Given the description of an element on the screen output the (x, y) to click on. 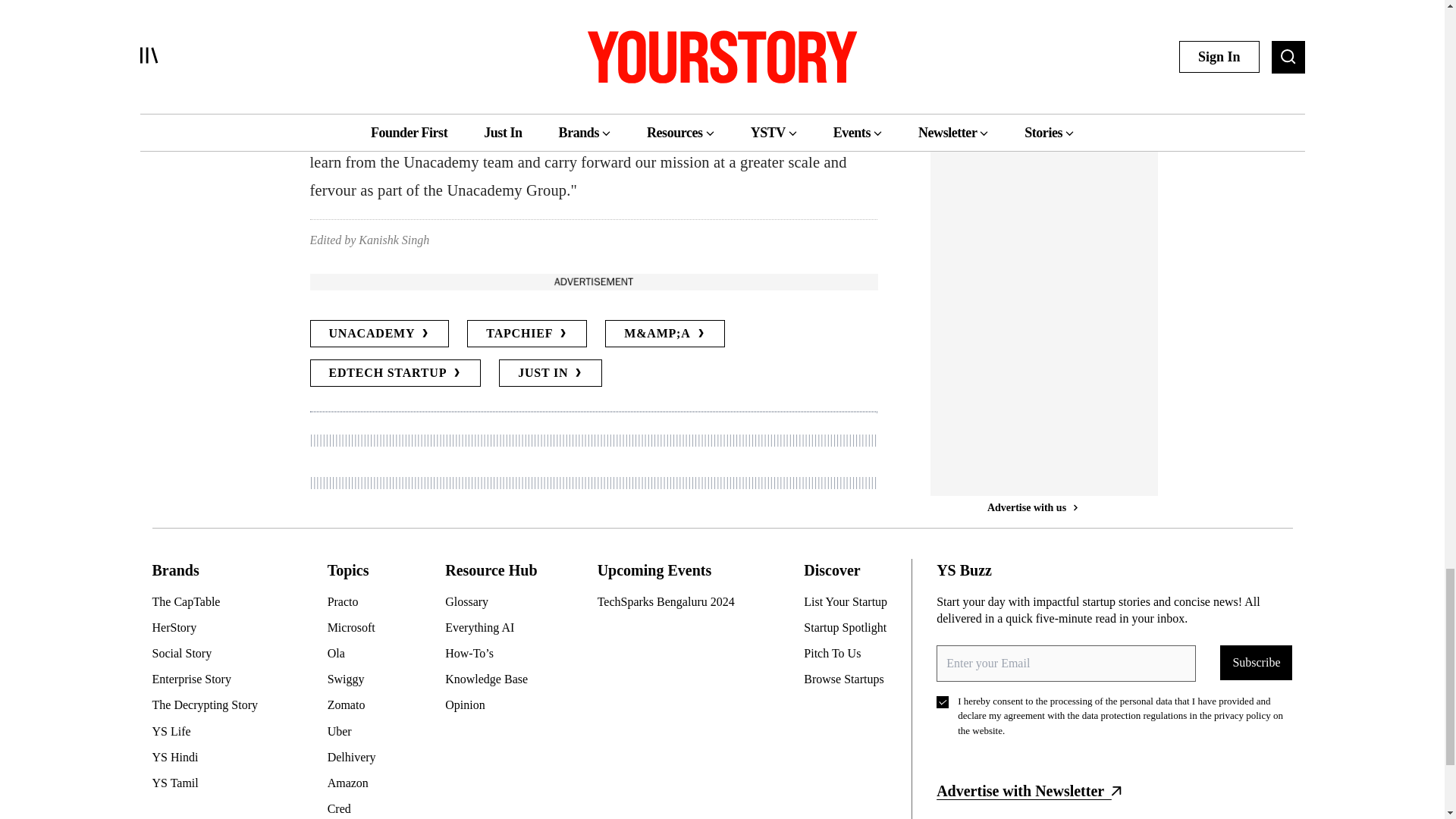
UNACADEMY (378, 333)
EDTECH STARTUP (394, 372)
Advertise with us (592, 281)
JUST IN (550, 372)
TAPCHIEF (526, 333)
